Given the description of an element on the screen output the (x, y) to click on. 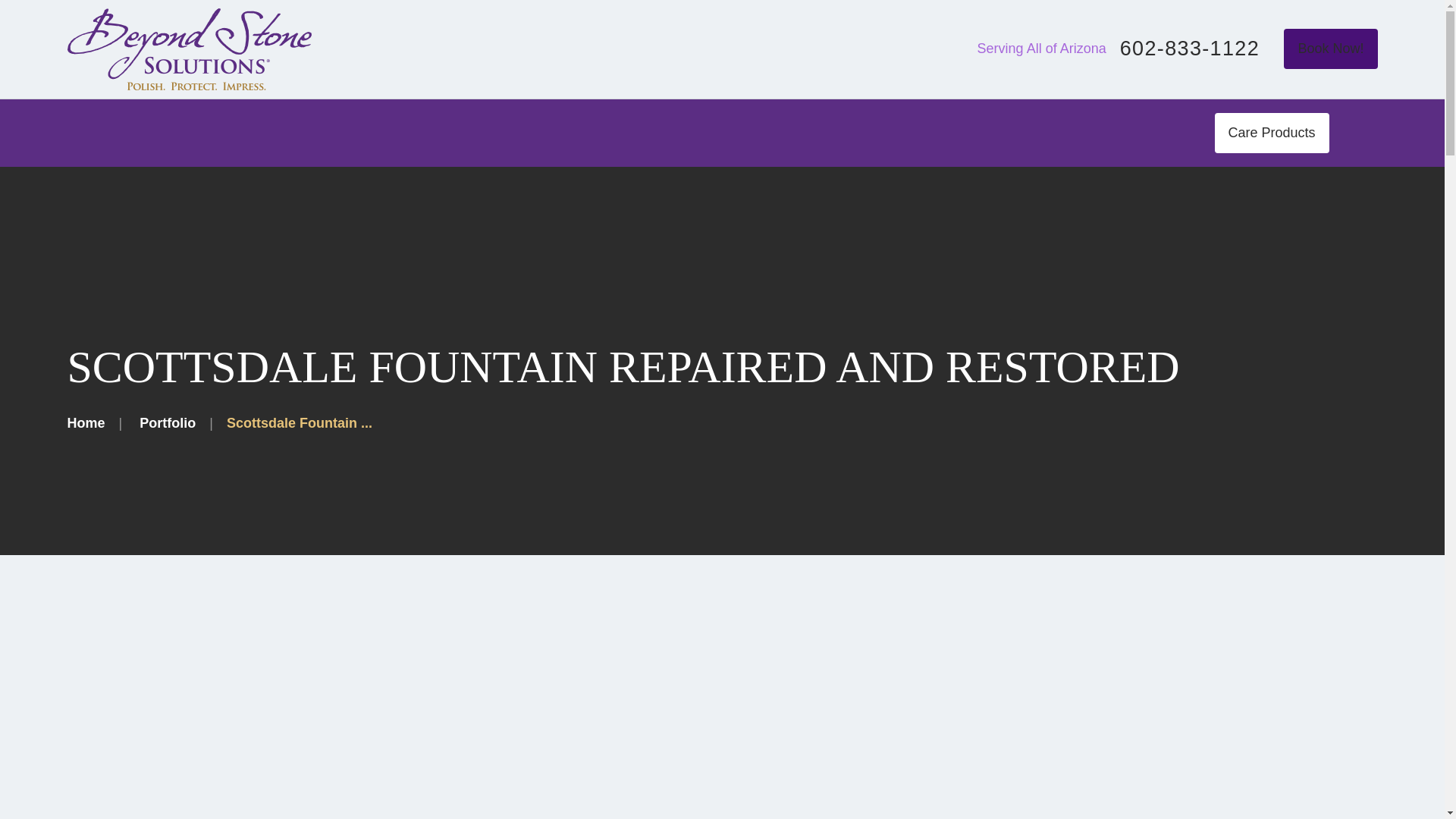
602-833-1122 (1189, 48)
Home (188, 49)
Book Now! (1330, 48)
Go Home (85, 422)
